Given the description of an element on the screen output the (x, y) to click on. 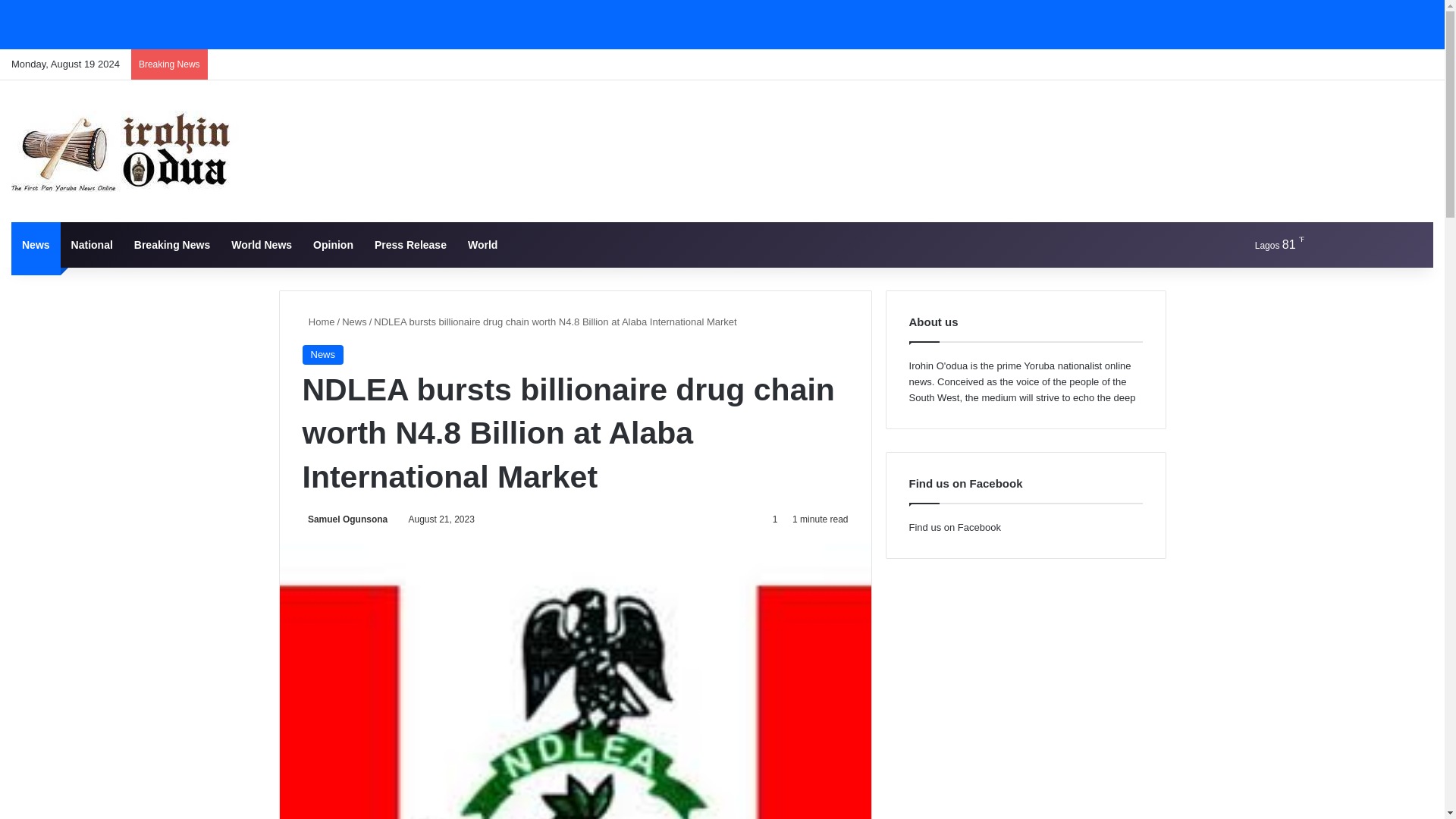
National (92, 244)
Press Release (410, 244)
IROHIN ODUA (124, 150)
News (354, 321)
World News (261, 244)
Scattered Clouds (1265, 244)
Breaking News (172, 244)
Samuel Ogunsona (344, 519)
News (322, 354)
Opinion (333, 244)
